Given the description of an element on the screen output the (x, y) to click on. 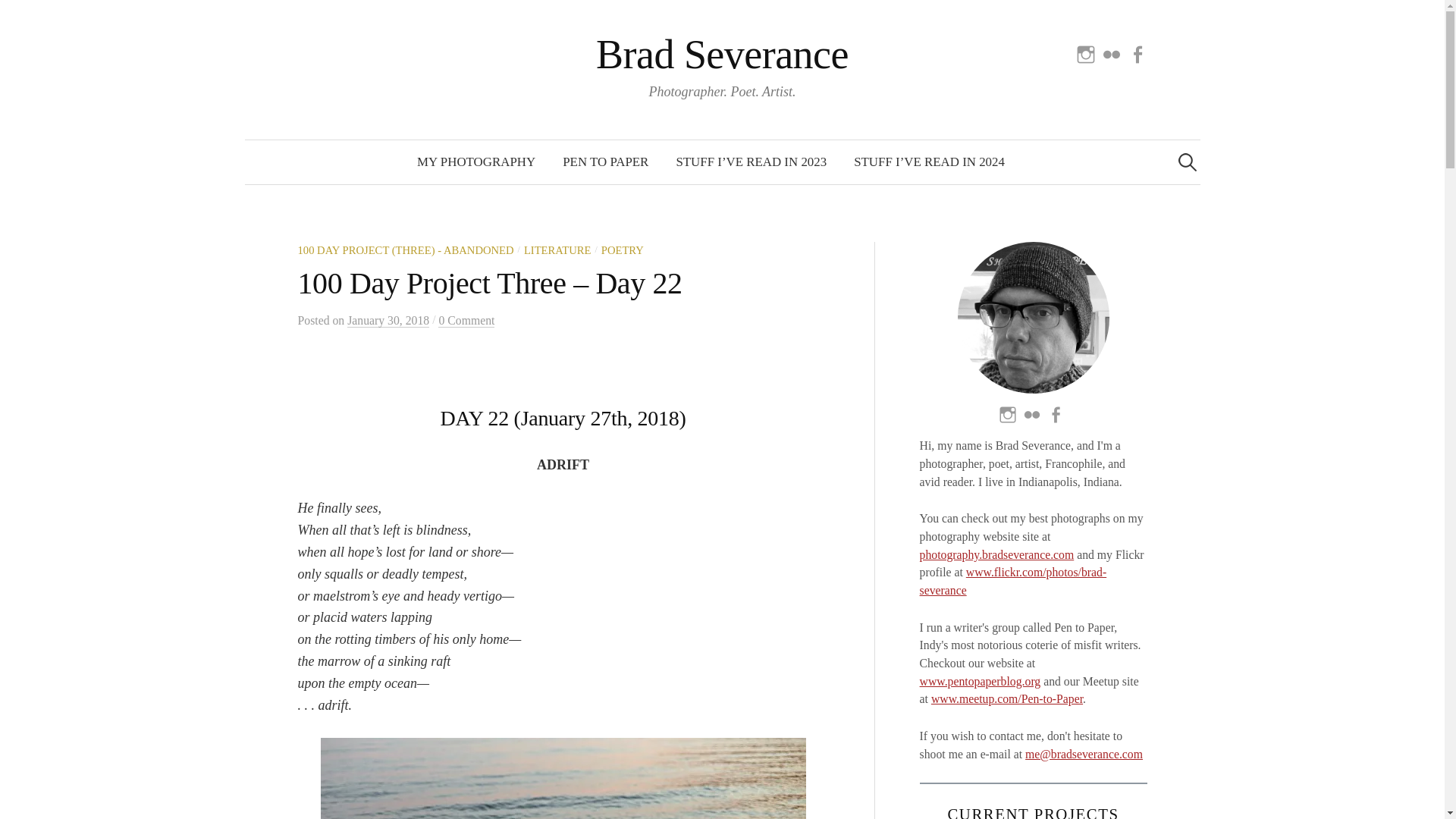
MY PHOTOGRAPHY (475, 162)
Facebook (1136, 53)
POETRY (622, 250)
January 30, 2018 (388, 320)
PEN TO PAPER (605, 162)
photography.bradseverance.com (997, 554)
0 Comment (466, 320)
Instagram (1085, 53)
www.pentopaperblog.org (980, 680)
Flickr (1111, 53)
